Given the description of an element on the screen output the (x, y) to click on. 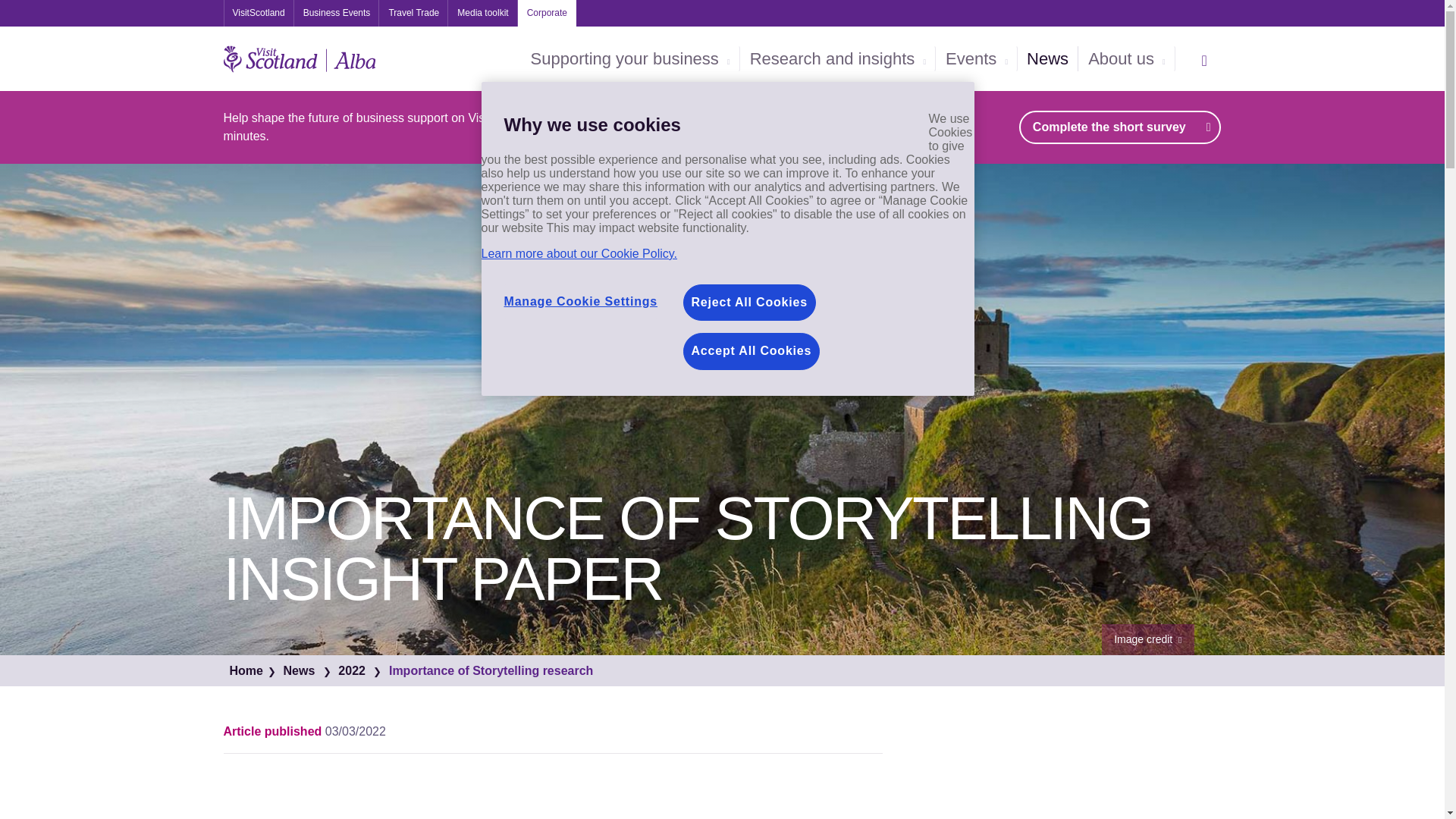
Travel Trade (413, 13)
Business Events (337, 13)
Media toolkit (482, 13)
Supporting your business (630, 58)
Corporate (547, 13)
VisitScotland (258, 13)
